Given the description of an element on the screen output the (x, y) to click on. 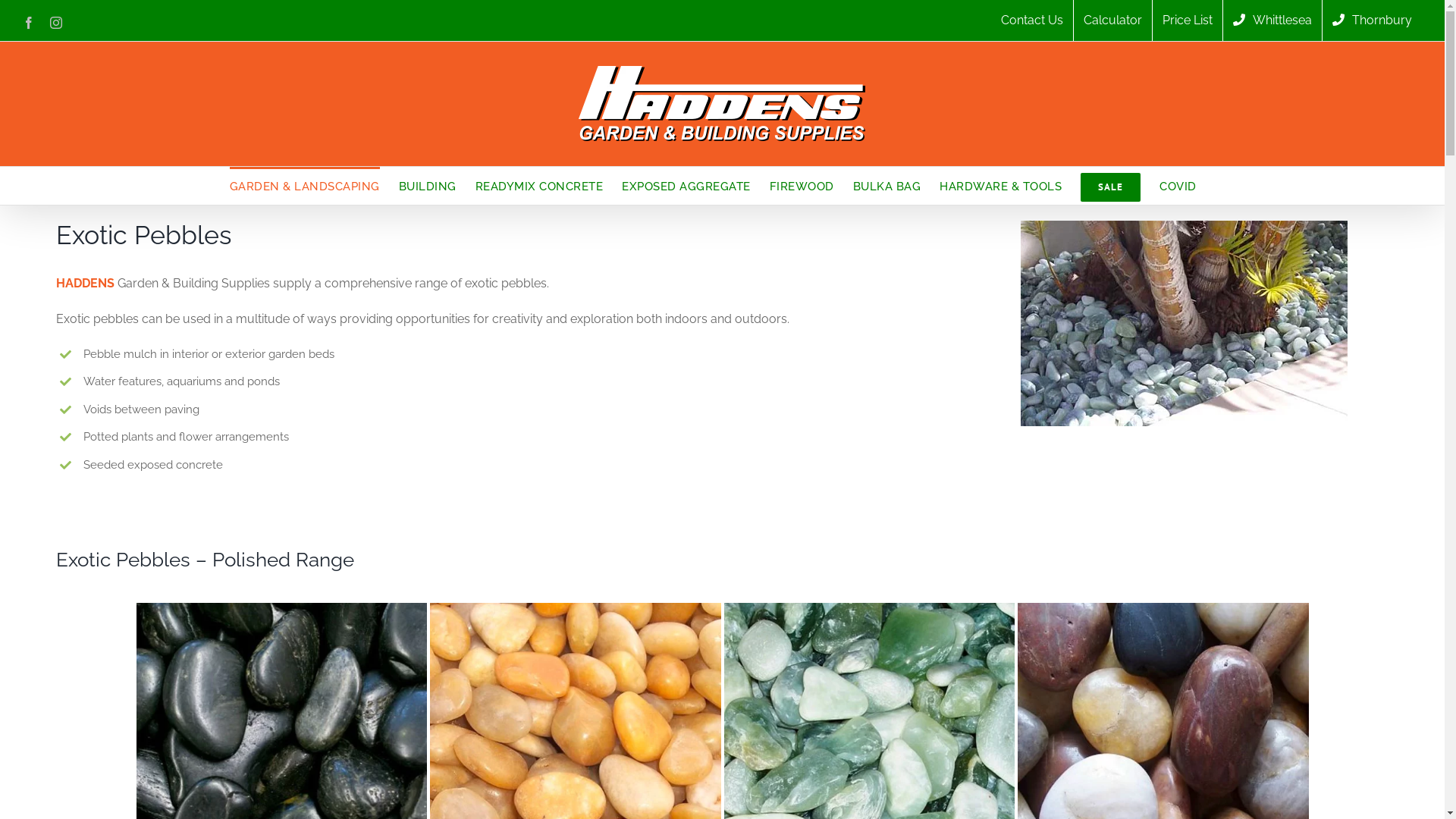
Calculator Element type: text (1112, 20)
HARDWARE & TOOLS Element type: text (1000, 185)
Price List Element type: text (1187, 20)
Facebook Element type: text (28, 22)
BULKA BAG Element type: text (886, 185)
Exotic-Pebbles-Main Element type: hover (1183, 323)
Instagram Element type: text (56, 22)
BUILDING Element type: text (427, 185)
Thornbury Element type: text (1371, 20)
READYMIX CONCRETE Element type: text (538, 185)
SALE Element type: text (1110, 185)
COVID Element type: text (1177, 185)
FIREWOOD Element type: text (800, 185)
Contact Us Element type: text (1032, 20)
GARDEN & LANDSCAPING Element type: text (304, 185)
EXPOSED AGGREGATE Element type: text (685, 185)
Whittlesea Element type: text (1272, 20)
